Given the description of an element on the screen output the (x, y) to click on. 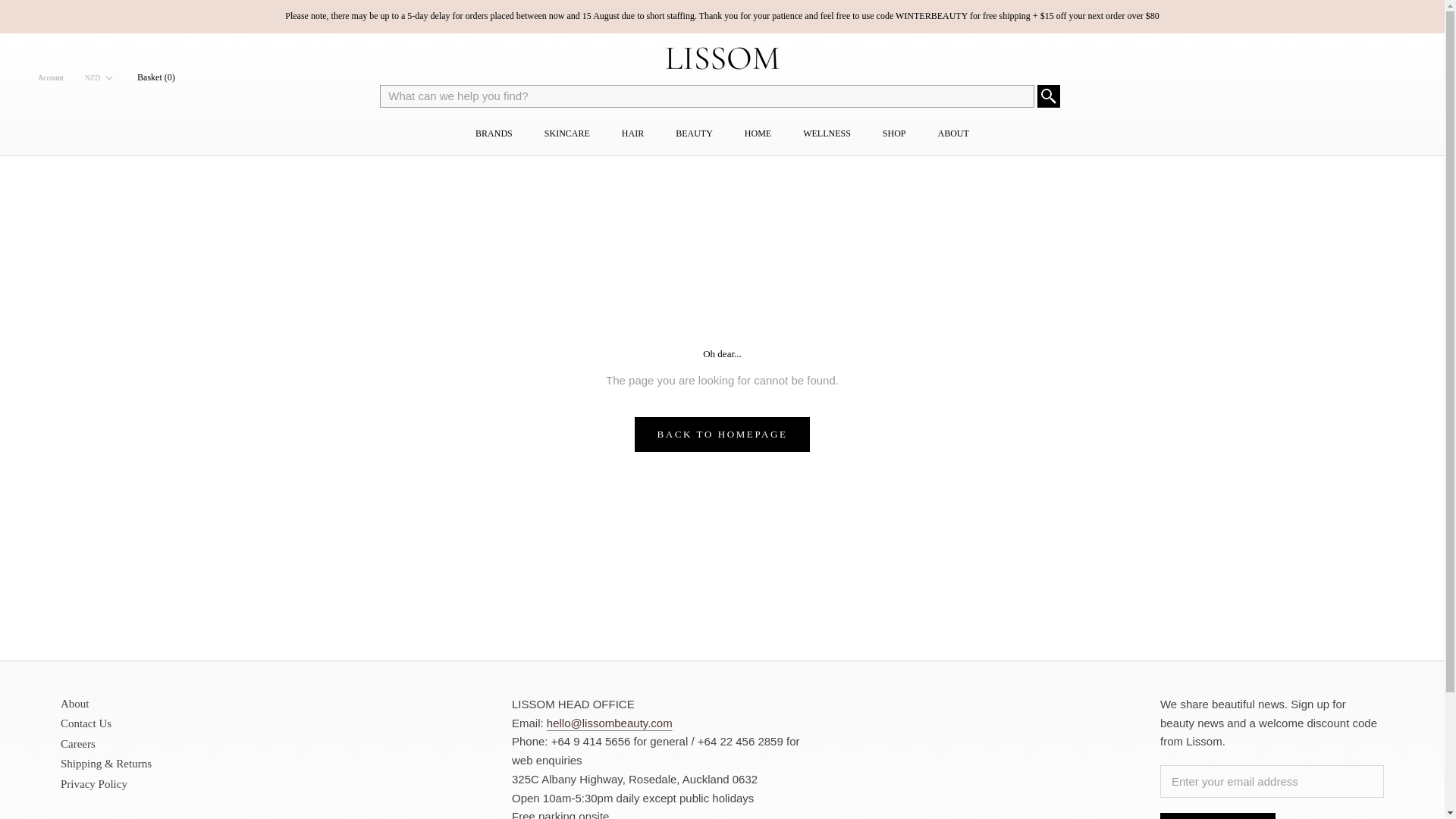
Currency selector (98, 77)
